Given the description of an element on the screen output the (x, y) to click on. 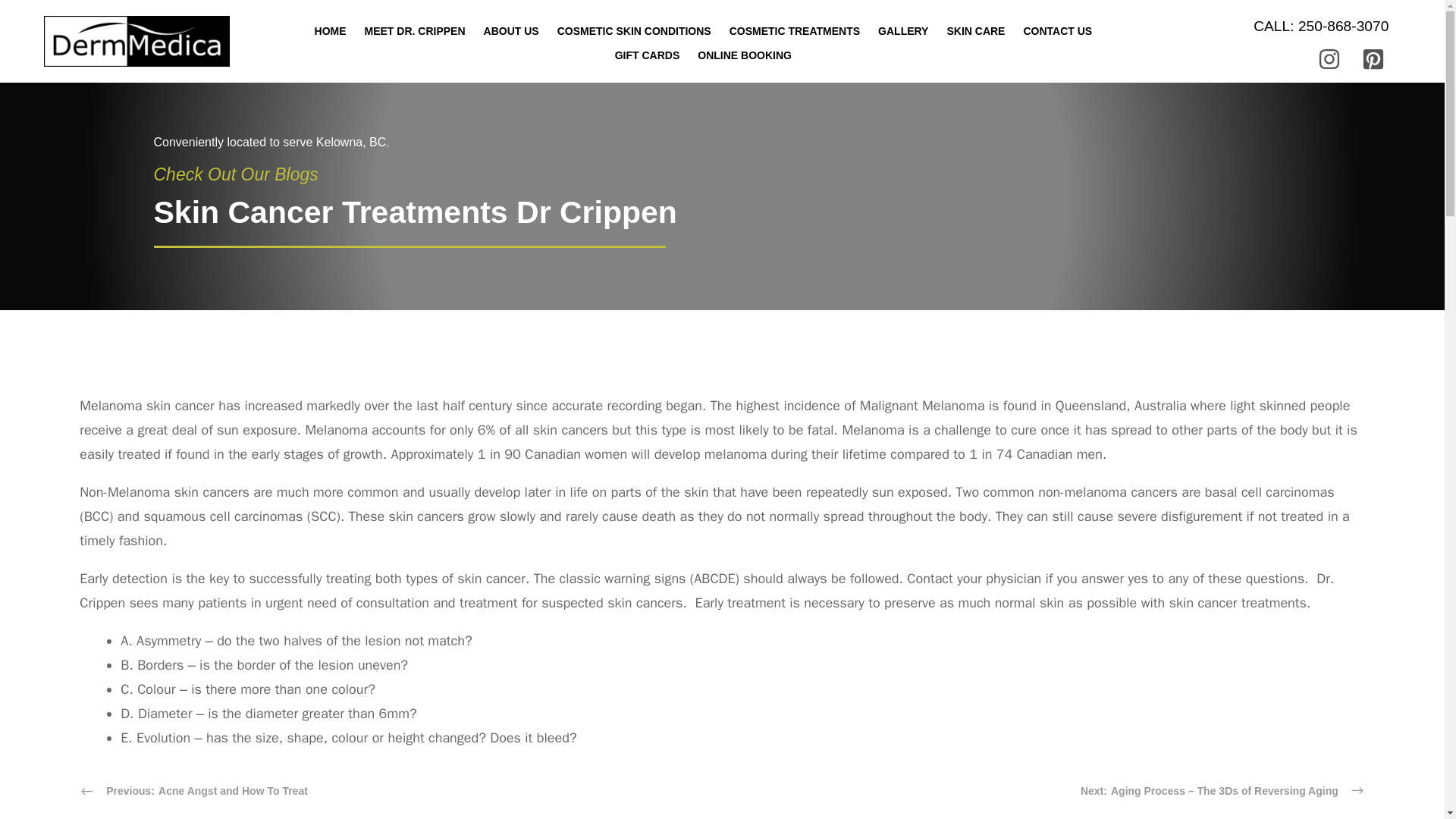
HOME (330, 30)
COSMETIC SKIN CONDITIONS (634, 30)
MEET DR. CRIPPEN (414, 30)
ABOUT US (511, 30)
GALLERY (903, 30)
COSMETIC TREATMENTS (794, 30)
